Given the description of an element on the screen output the (x, y) to click on. 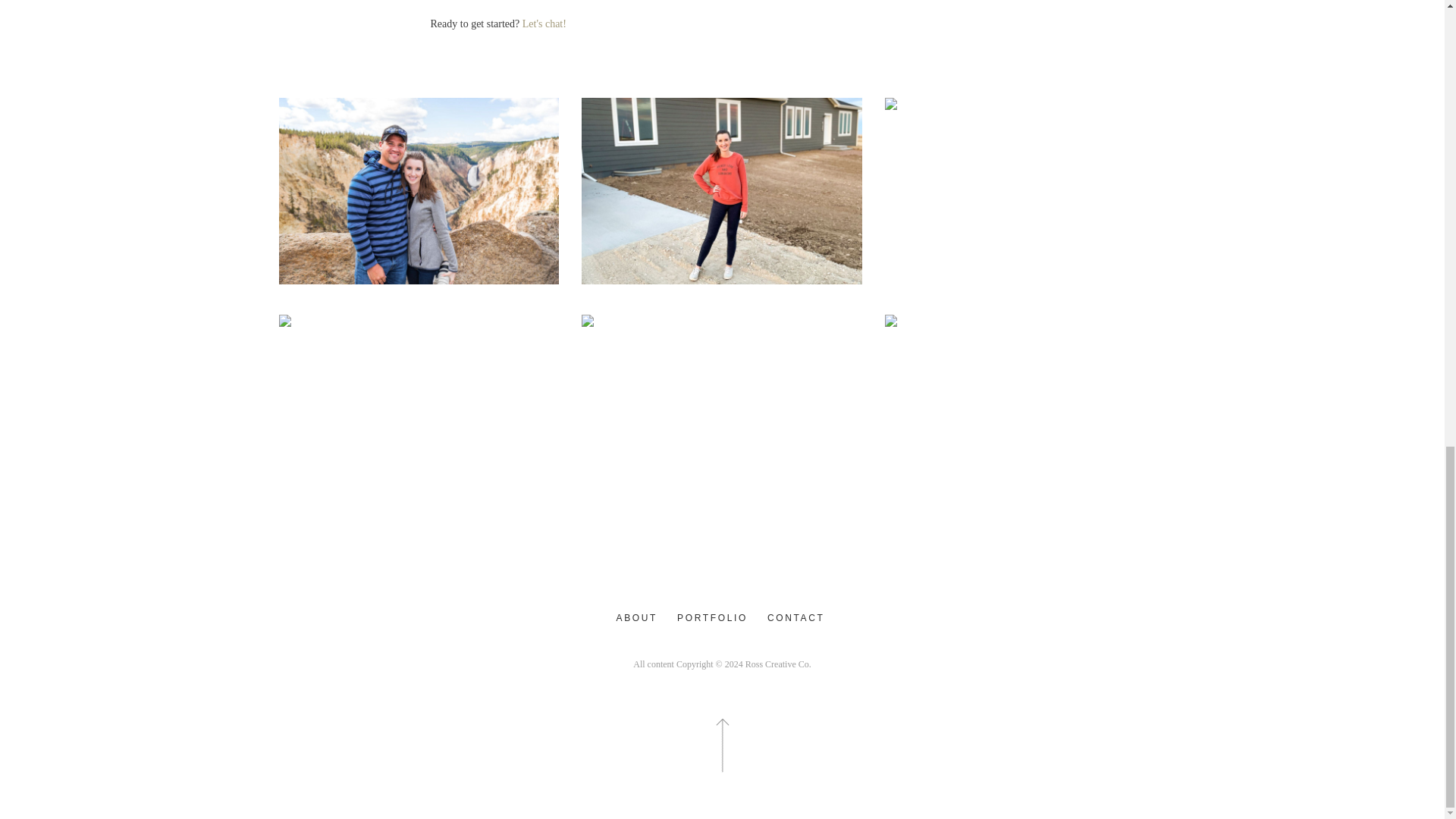
CONTACT (796, 617)
ABOUT (636, 617)
PORTFOLIO (712, 617)
Let's chat! (544, 23)
